Given the description of an element on the screen output the (x, y) to click on. 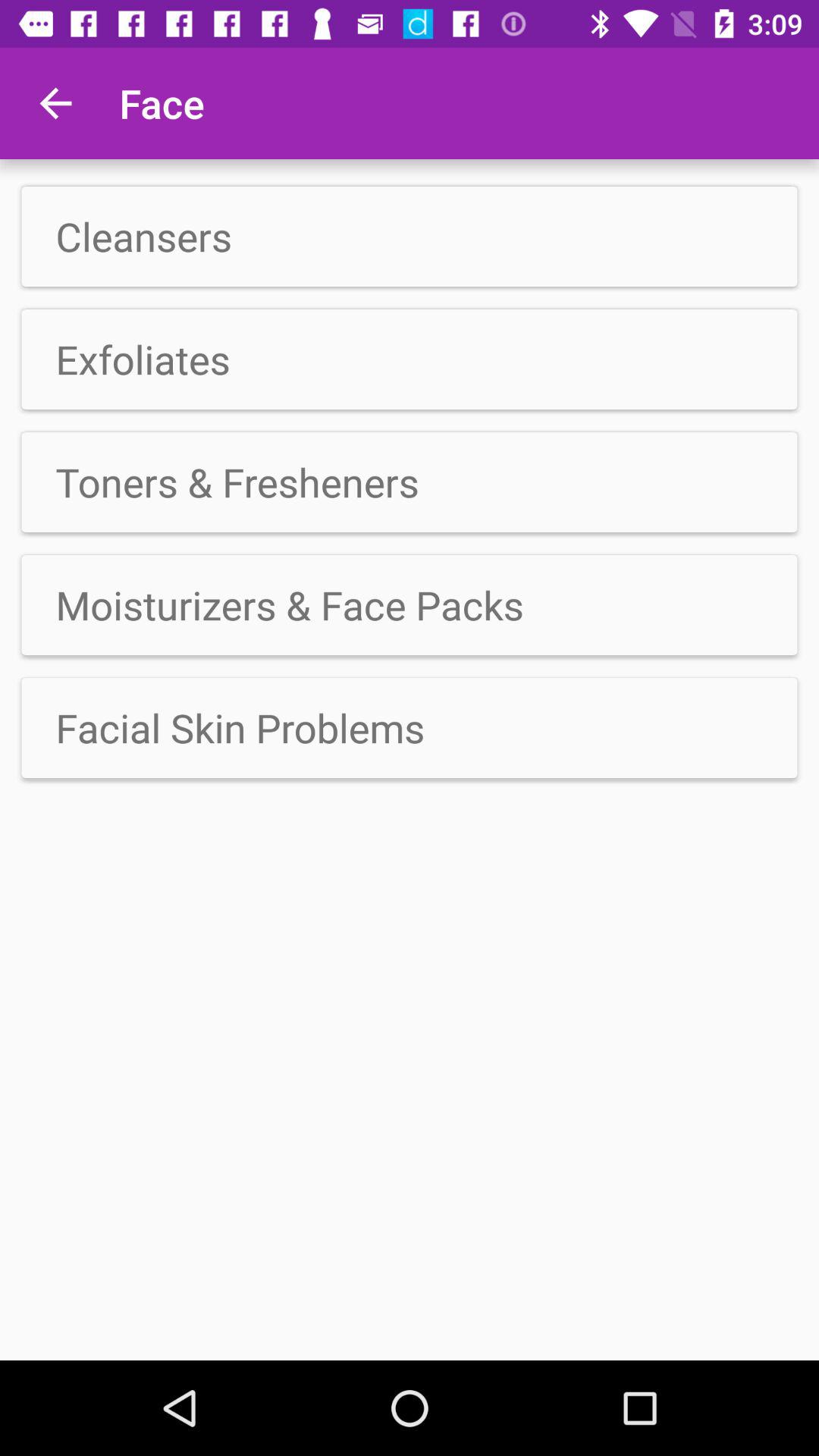
press moisturizers & face packs item (409, 604)
